Given the description of an element on the screen output the (x, y) to click on. 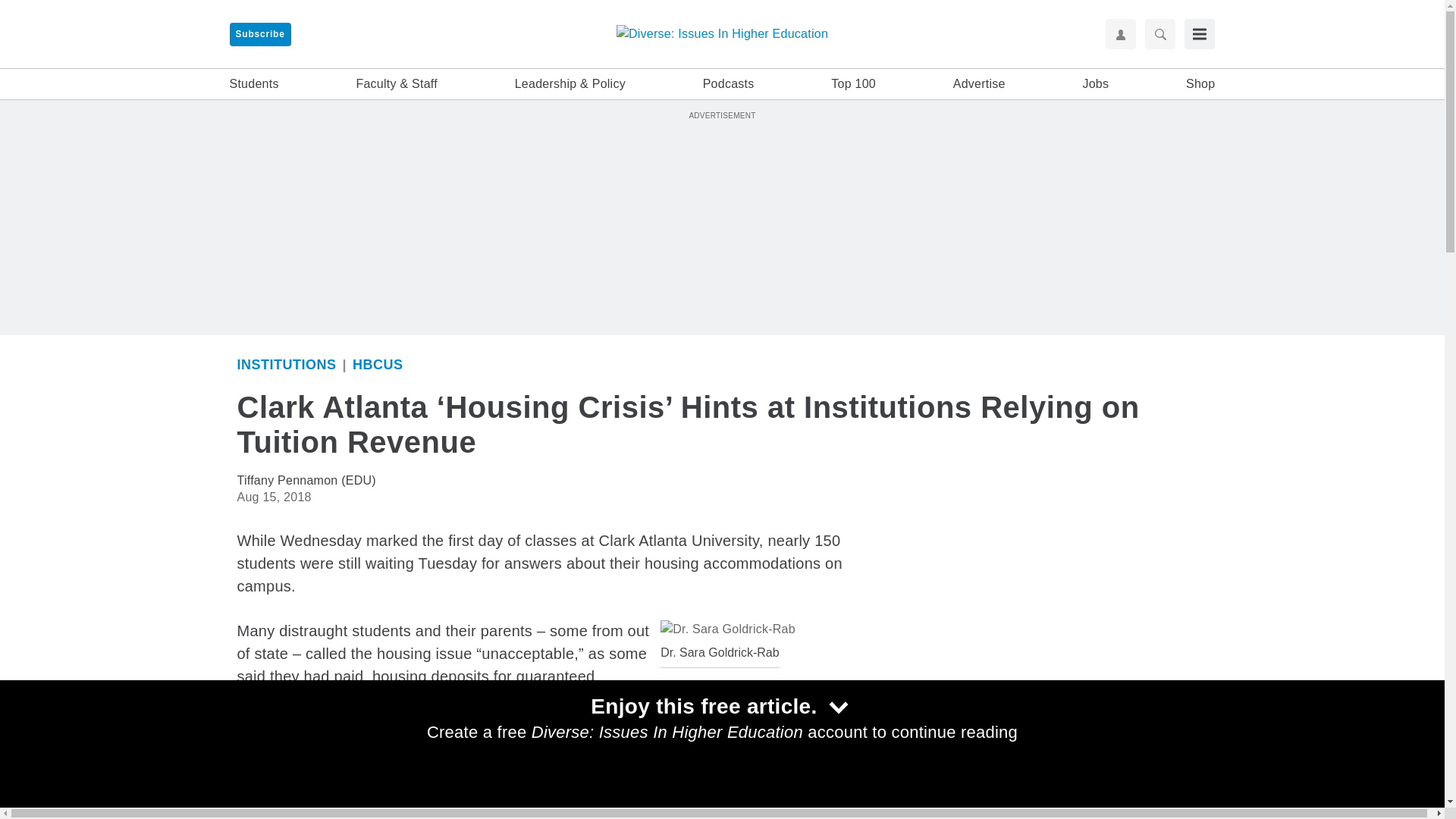
Jobs (1094, 84)
Top 100 (853, 84)
Advertise (979, 84)
Subscribe (258, 33)
Shop (1200, 84)
Podcasts (728, 84)
Students (253, 84)
Subscribe (258, 33)
HBCUs (377, 364)
Institutions (285, 364)
